Given the description of an element on the screen output the (x, y) to click on. 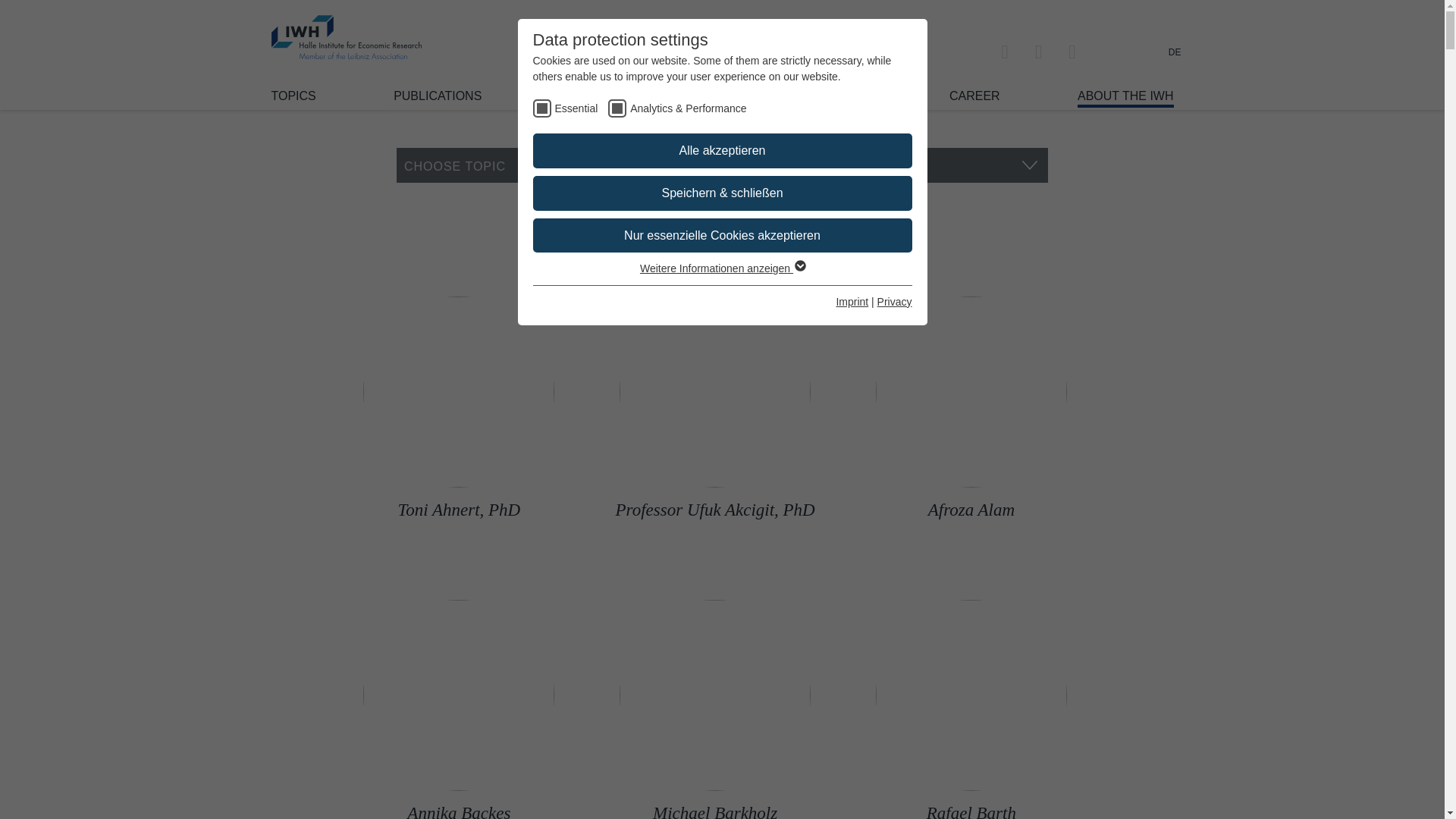
DE (1174, 51)
RESEARCH (593, 96)
PUBLICATIONS (437, 96)
TOPICS (292, 96)
